Given the description of an element on the screen output the (x, y) to click on. 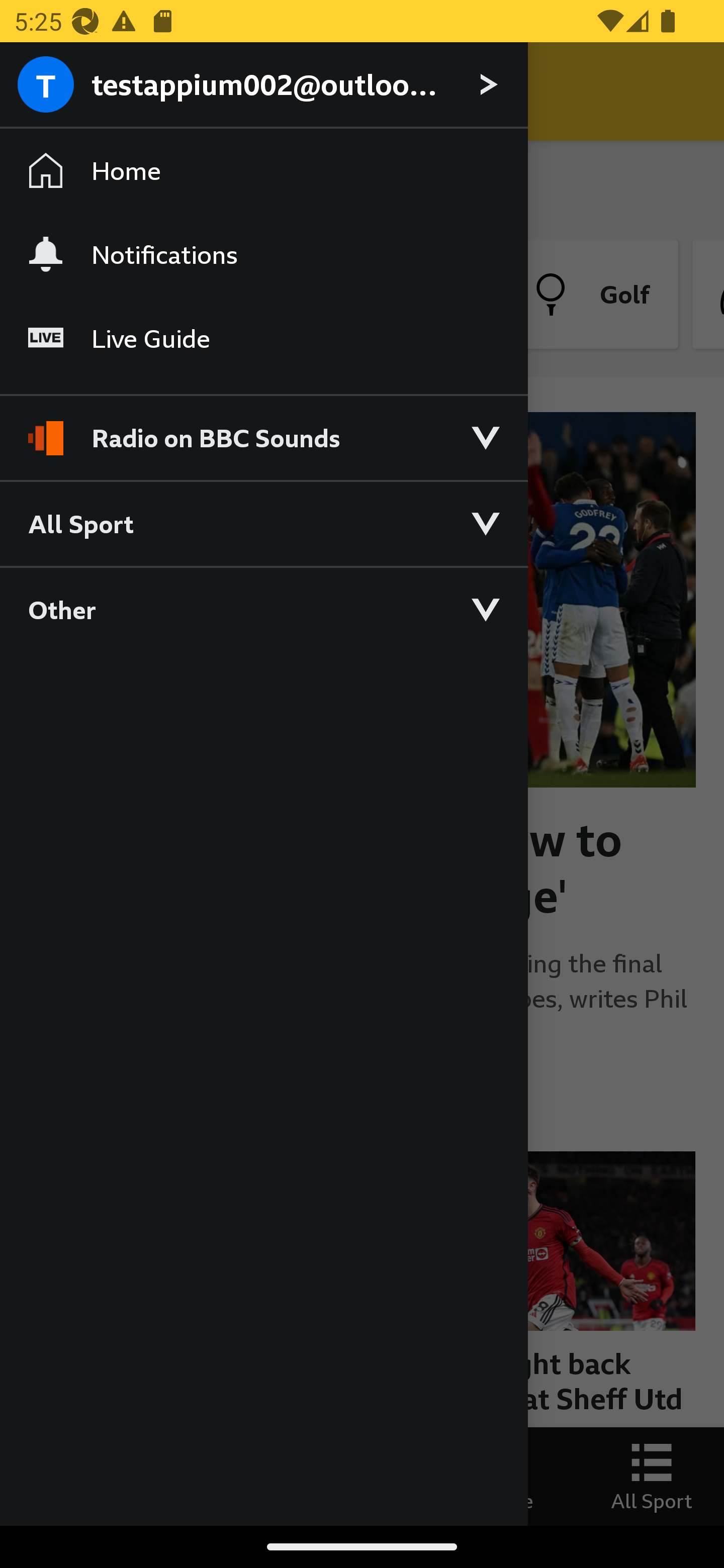
testappium002@outlook.com (263, 85)
Home (263, 170)
Notifications (263, 253)
Live Guide (263, 338)
Radio on BBC Sounds (263, 429)
All Sport (263, 522)
Other (263, 609)
